Given the description of an element on the screen output the (x, y) to click on. 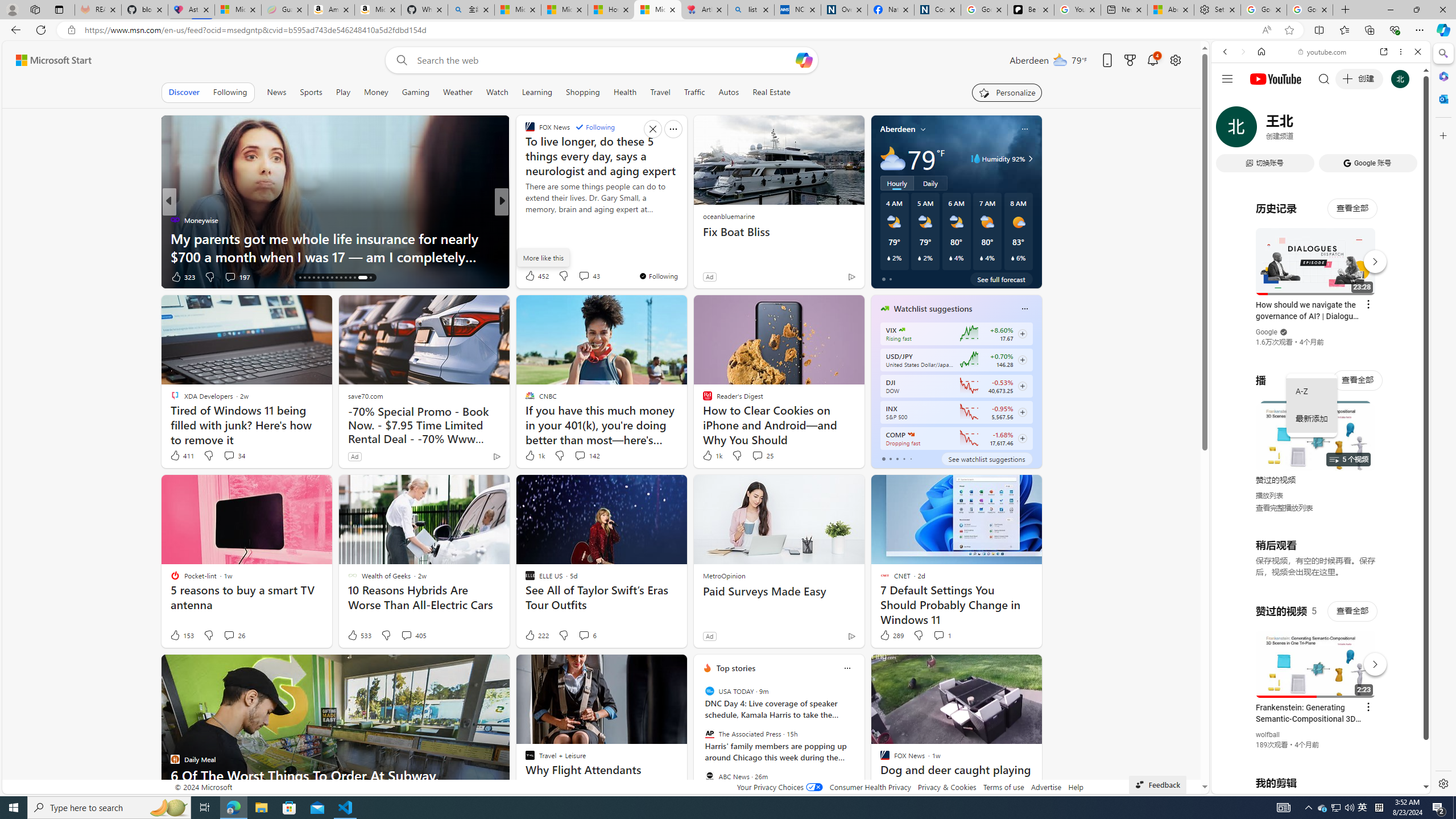
View comments 6 Comment (583, 635)
tab-3 (903, 458)
Travel (660, 92)
Shopping (583, 92)
Travel (660, 92)
HowToGeek (524, 219)
Class: weather-arrow-glyph (1029, 158)
